Given the description of an element on the screen output the (x, y) to click on. 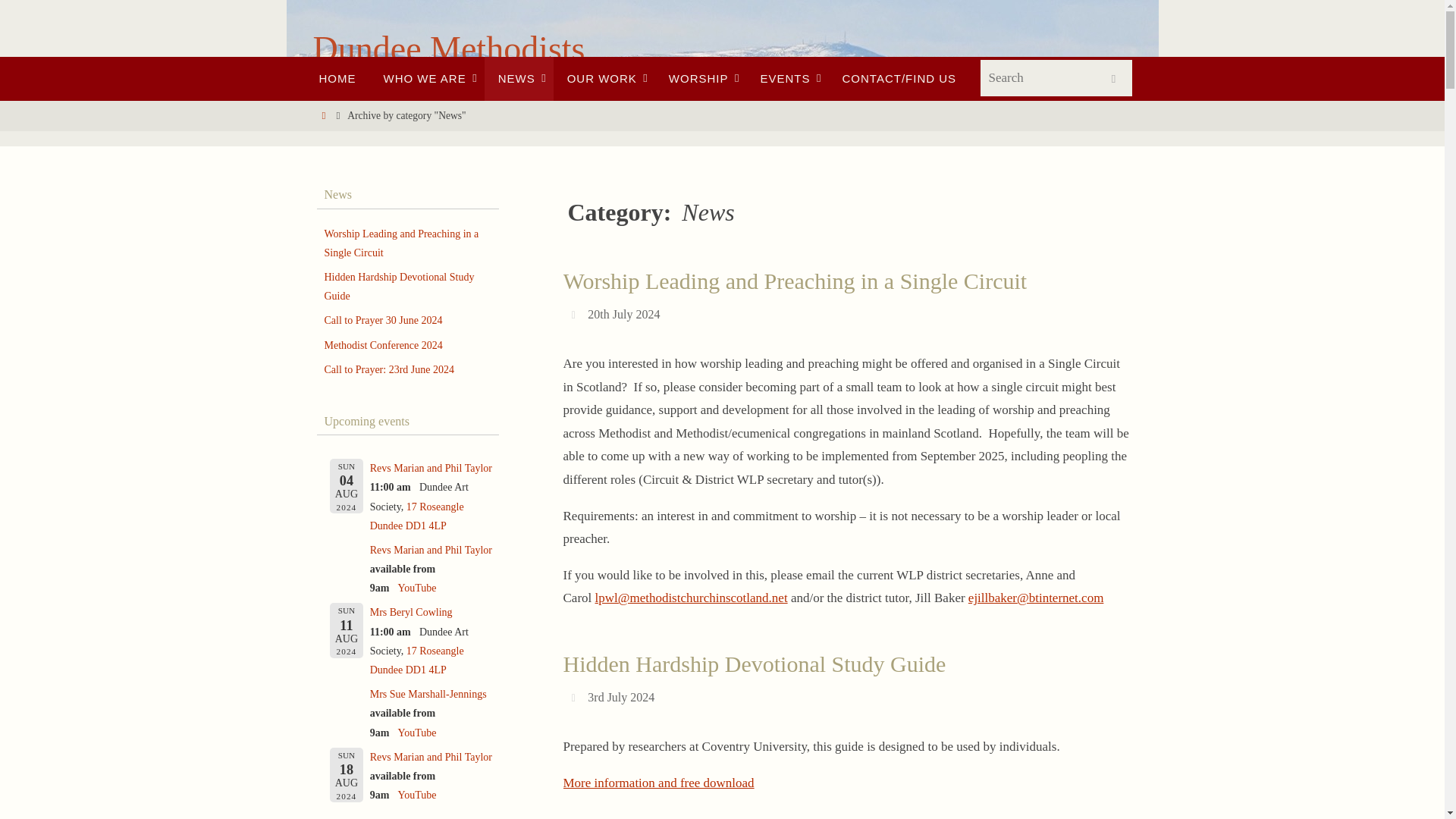
Dundee Methodists (449, 49)
WHO WE ARE (426, 78)
Date (575, 314)
Dundee Methodists (449, 49)
EVENTS (787, 78)
WORSHIP (700, 78)
OUR WORK (604, 78)
Permalink to Hidden Hardship Devotional Study Guide (753, 663)
HOME (336, 78)
NEWS (518, 78)
Date (575, 697)
